Given the description of an element on the screen output the (x, y) to click on. 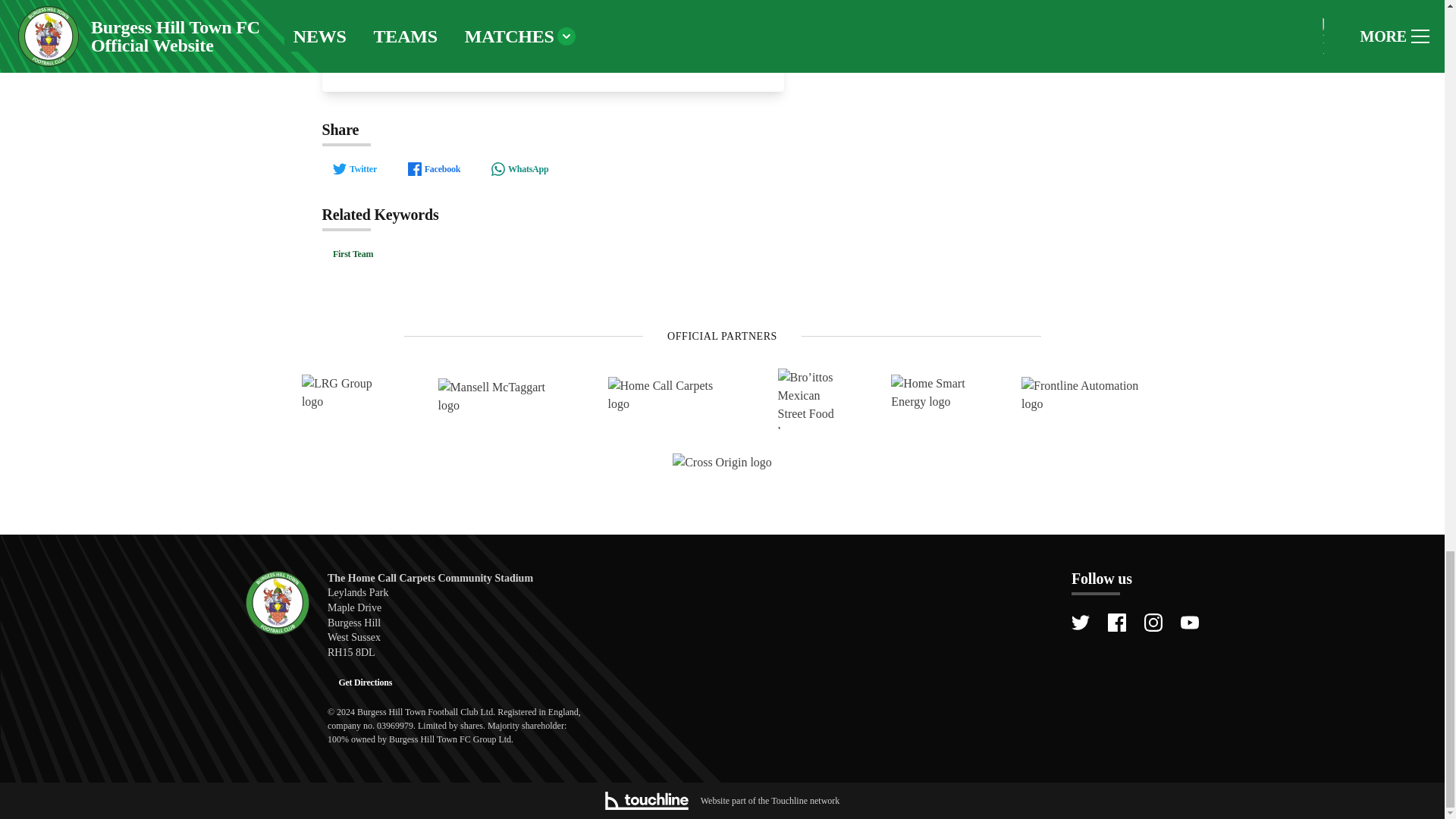
First Team (352, 253)
Find us on YouTube (1189, 622)
WhatsApp (519, 168)
Find us on Instagram (1152, 622)
Find us on Facebook (1116, 622)
Find us on Twitter (1080, 622)
Facebook (433, 168)
Twitter (354, 168)
